Given the description of an element on the screen output the (x, y) to click on. 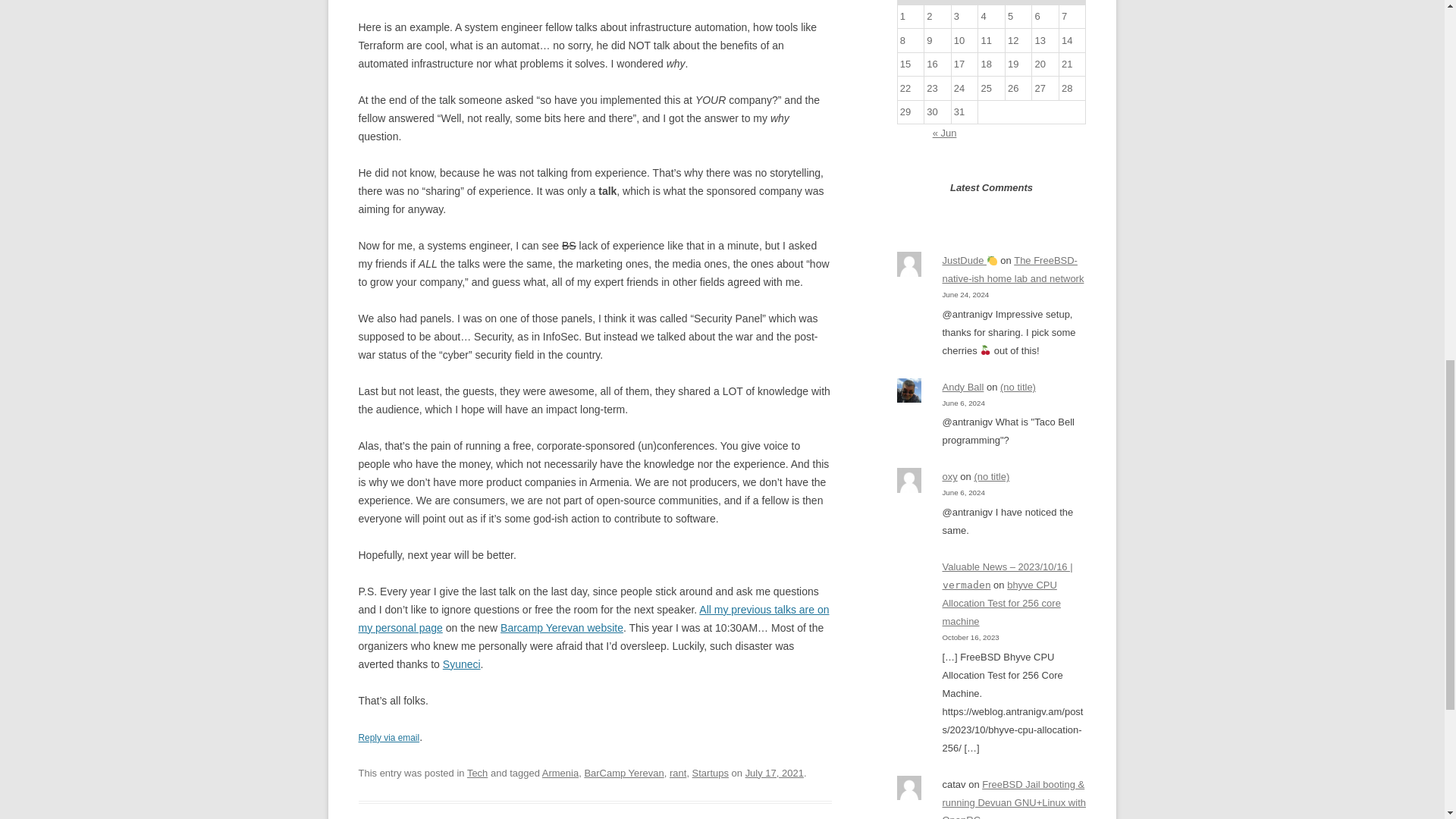
BarCamp Yerevan (623, 772)
Barcamp Yerevan website (561, 627)
Startups (711, 772)
Reply via email (388, 737)
Wednesday (964, 2)
Syuneci (461, 664)
JustDude (969, 260)
Monday (910, 2)
Tech (477, 772)
8:58 PM (774, 772)
July 17, 2021 (774, 772)
Armenia (559, 772)
Tuesday (938, 2)
Andy Ball (963, 387)
oxy (949, 476)
